Given the description of an element on the screen output the (x, y) to click on. 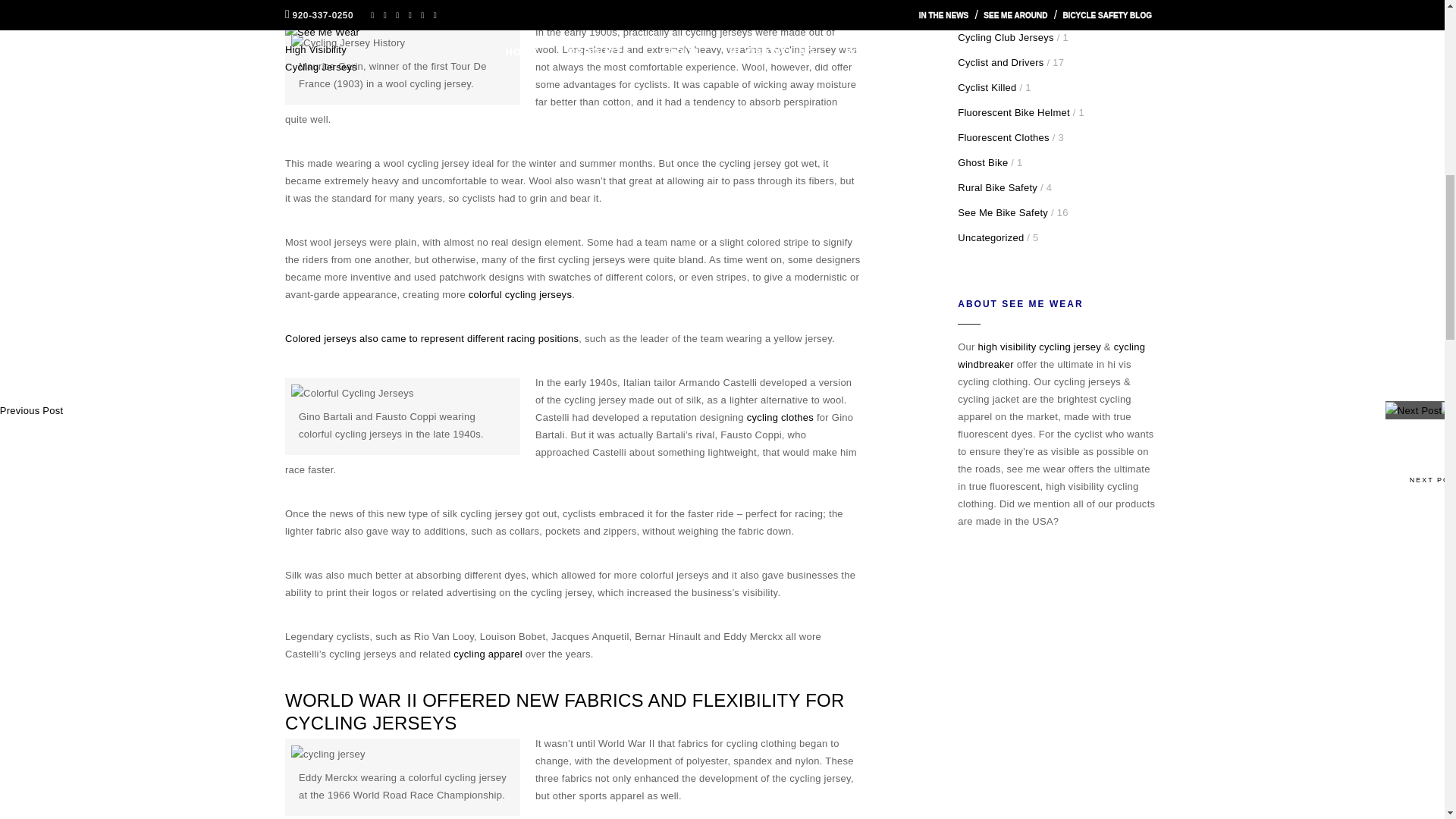
cycling apparel (487, 654)
colorful cycling jerseys (520, 294)
cycling clothes (779, 417)
